Given the description of an element on the screen output the (x, y) to click on. 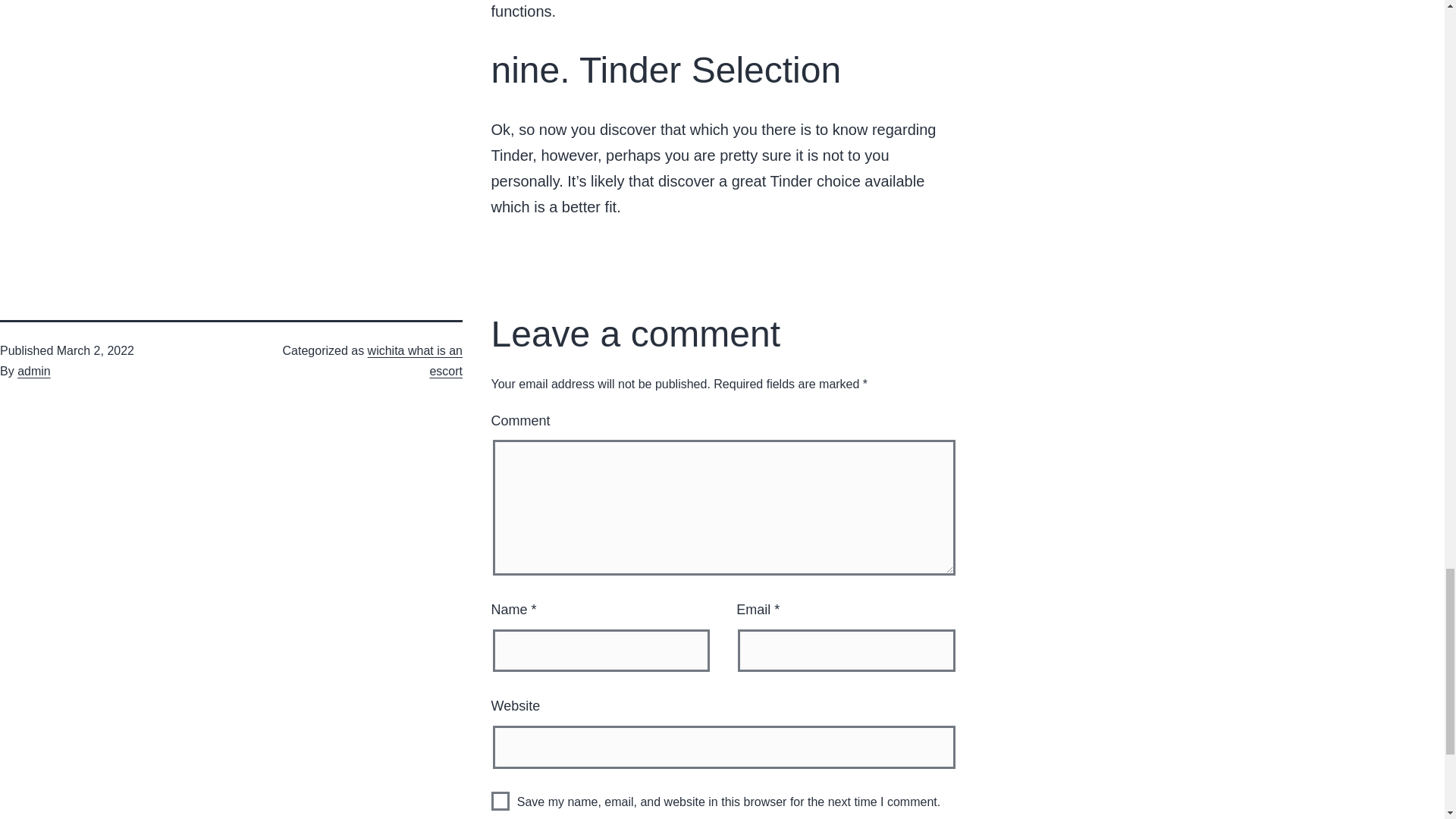
admin (33, 370)
yes (500, 800)
wichita what is an escort (415, 360)
